Given the description of an element on the screen output the (x, y) to click on. 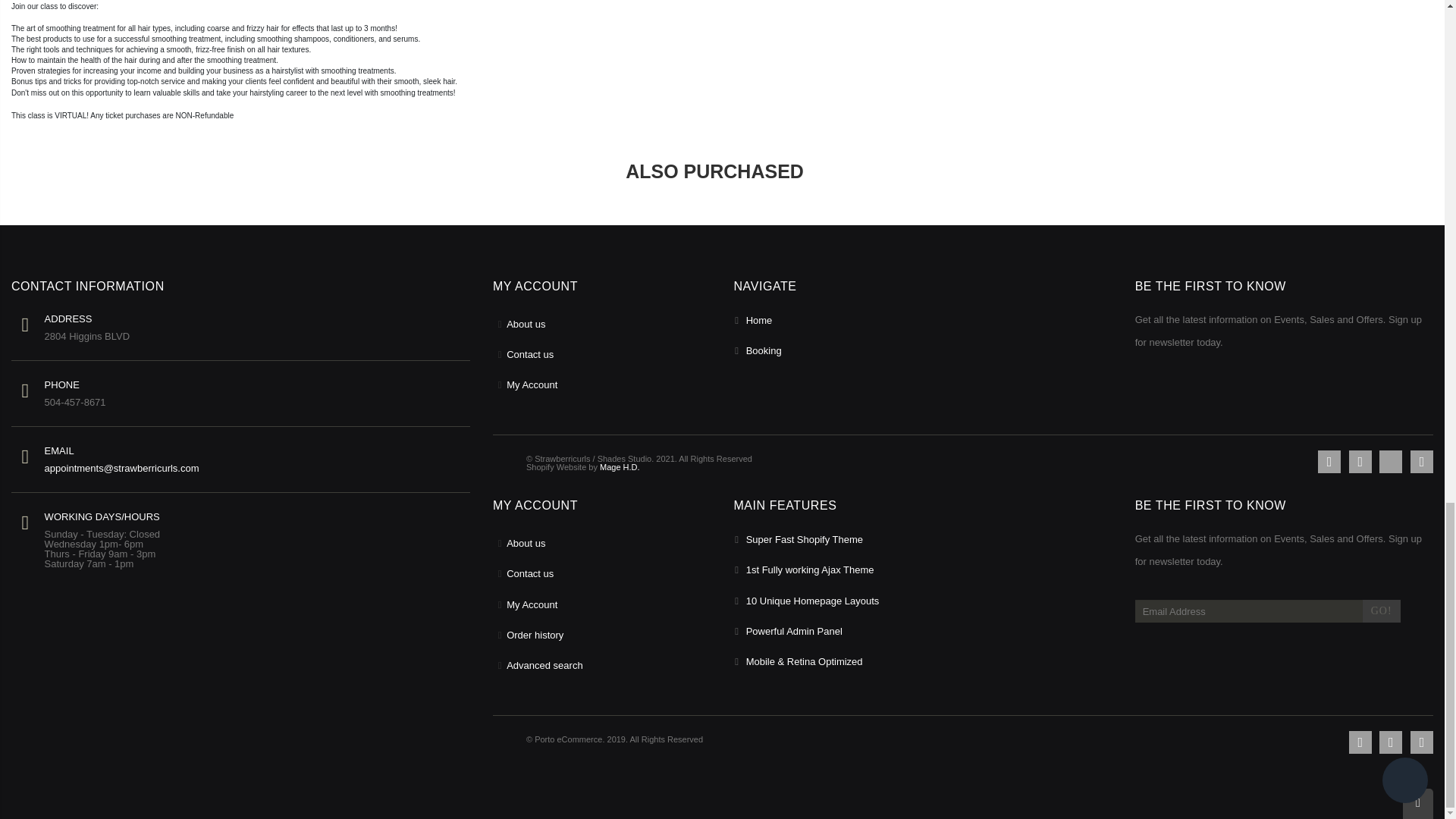
Pinterest (1390, 461)
About us (525, 324)
Contact us (544, 665)
Facebook (1328, 461)
My Account (531, 604)
Contact Us (529, 354)
Contact Us (529, 573)
My Account (534, 634)
Instagram (1421, 461)
Go! (1381, 610)
About us (525, 542)
My Account (531, 384)
Twitter (1360, 461)
Description (37, 0)
